Given the description of an element on the screen output the (x, y) to click on. 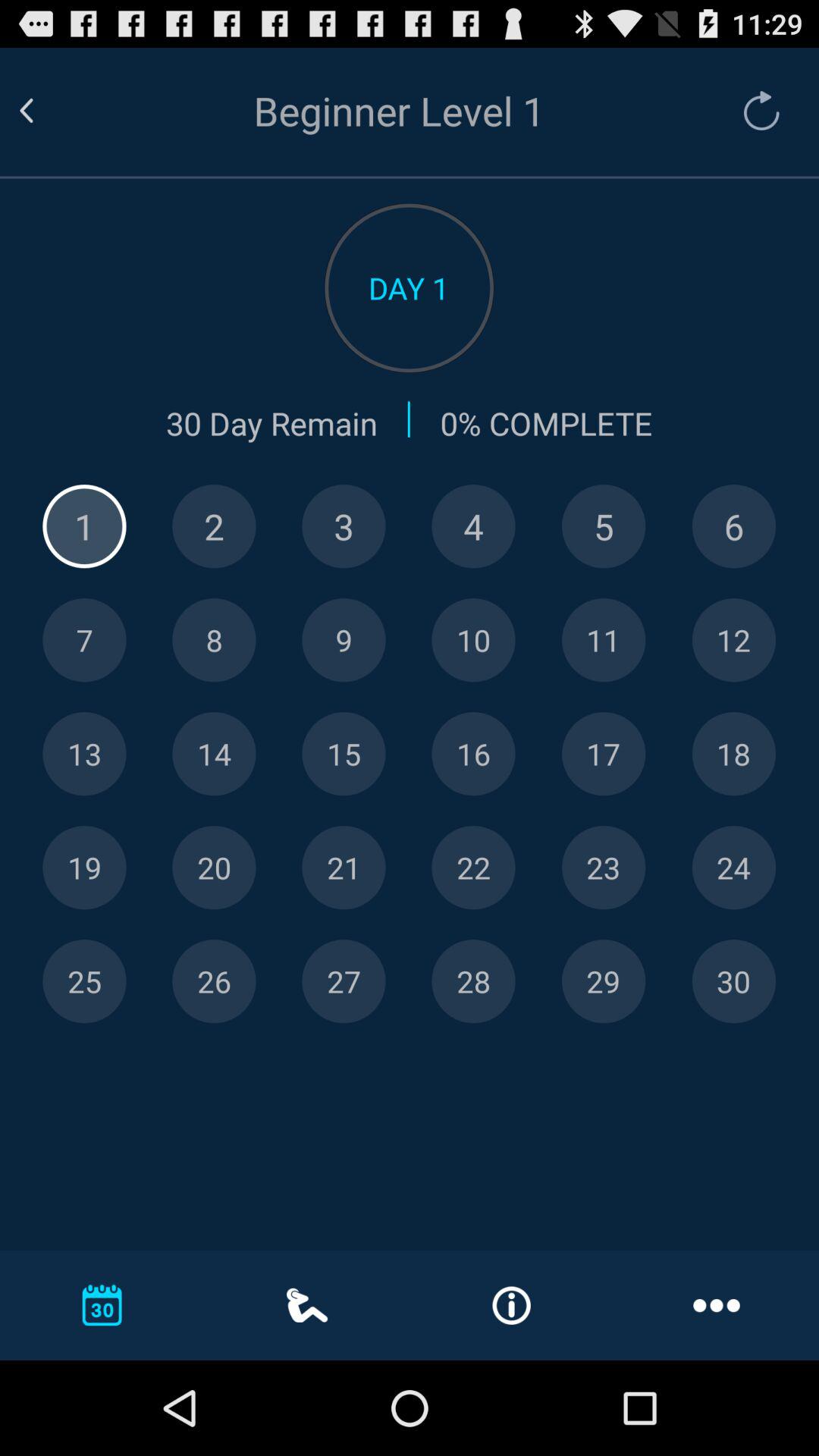
select day 29 (603, 981)
